Given the description of an element on the screen output the (x, y) to click on. 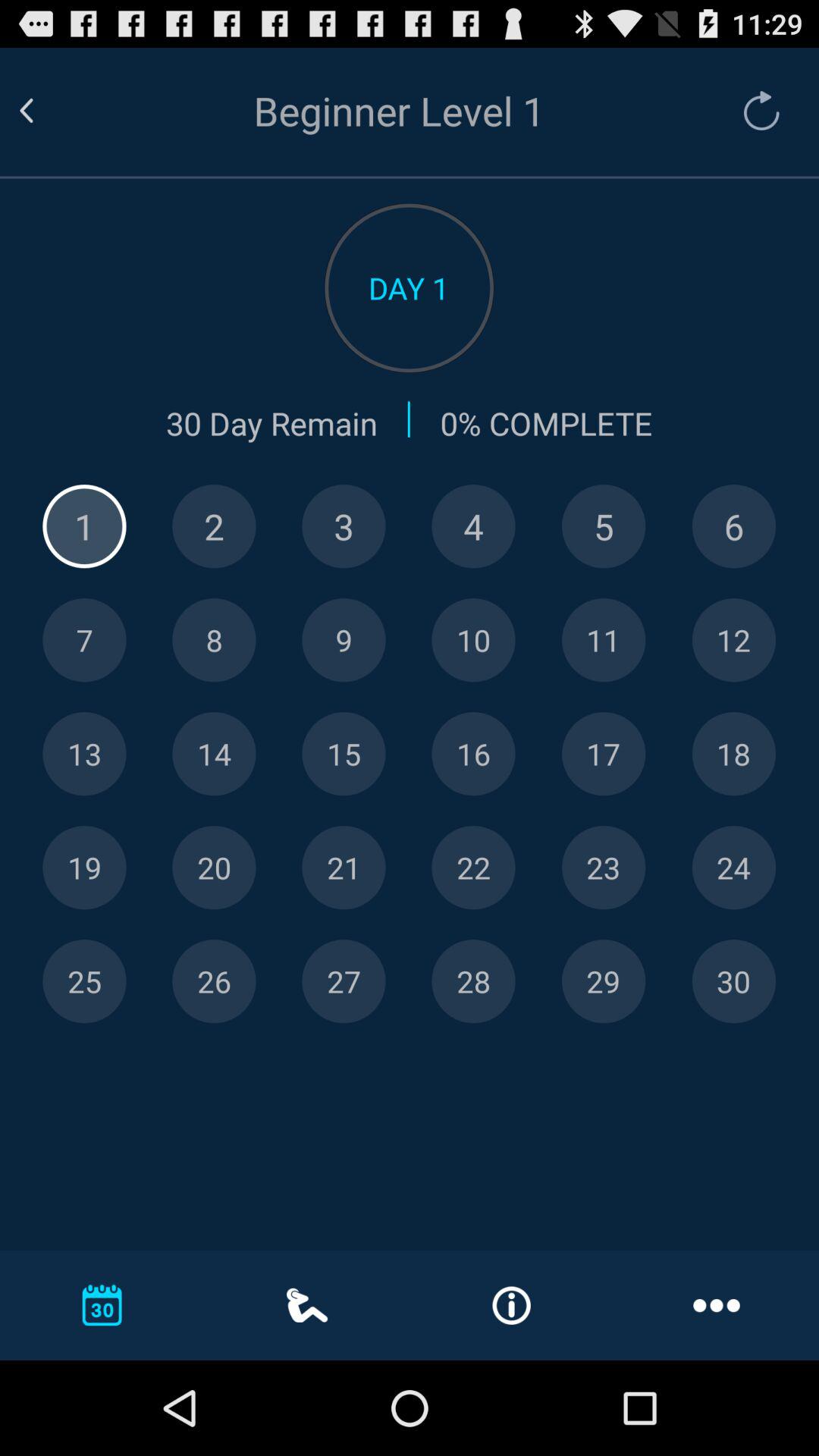
select day 29 (603, 981)
